Given the description of an element on the screen output the (x, y) to click on. 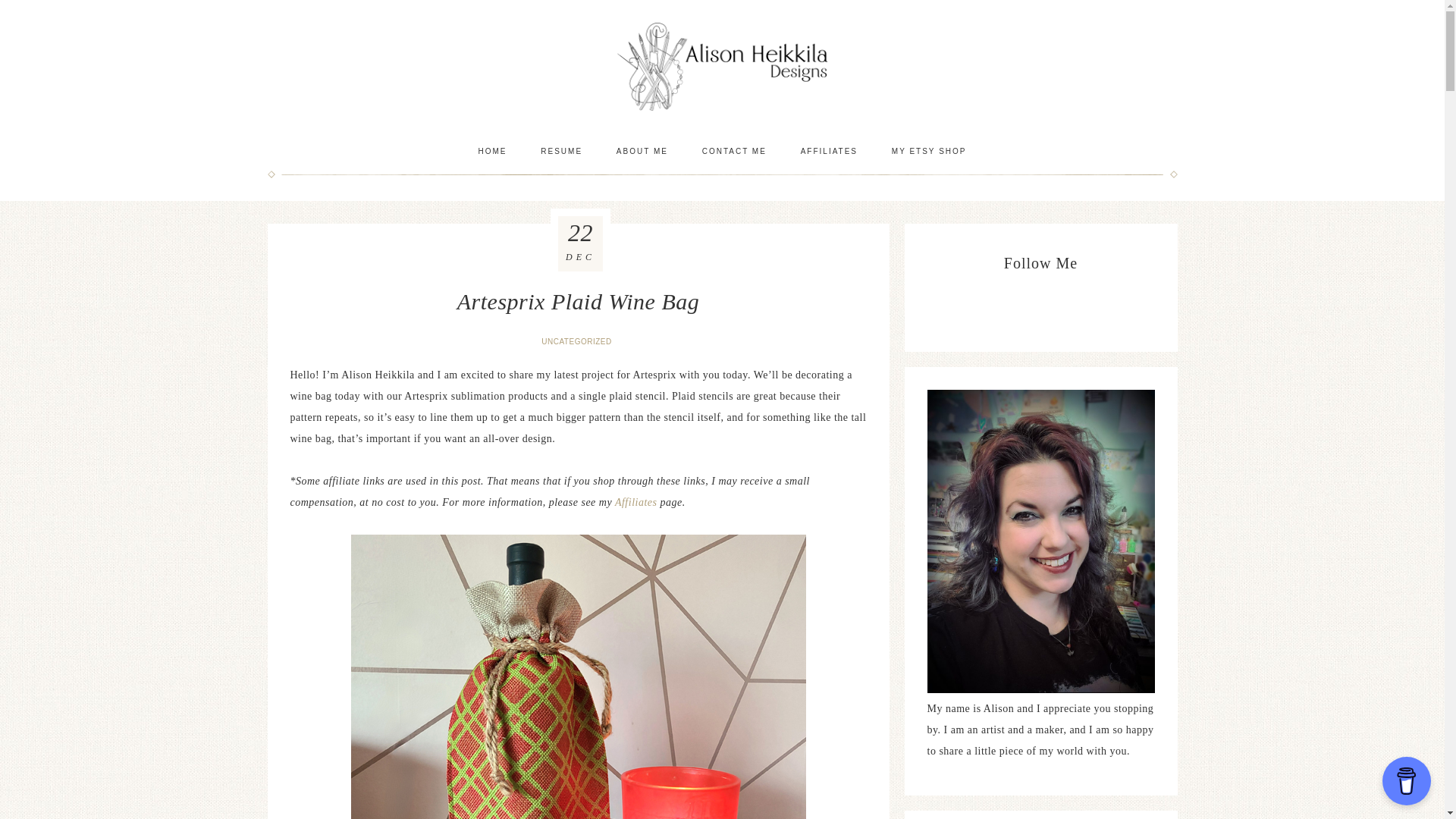
ALISON HEIKKILA DESIGNS (722, 65)
HOME (492, 151)
MY ETSY SHOP (928, 151)
CONTACT ME (734, 151)
UNCATEGORIZED (577, 341)
ABOUT ME (641, 151)
Affiliates (637, 501)
AFFILIATES (829, 151)
RESUME (560, 151)
